Given the description of an element on the screen output the (x, y) to click on. 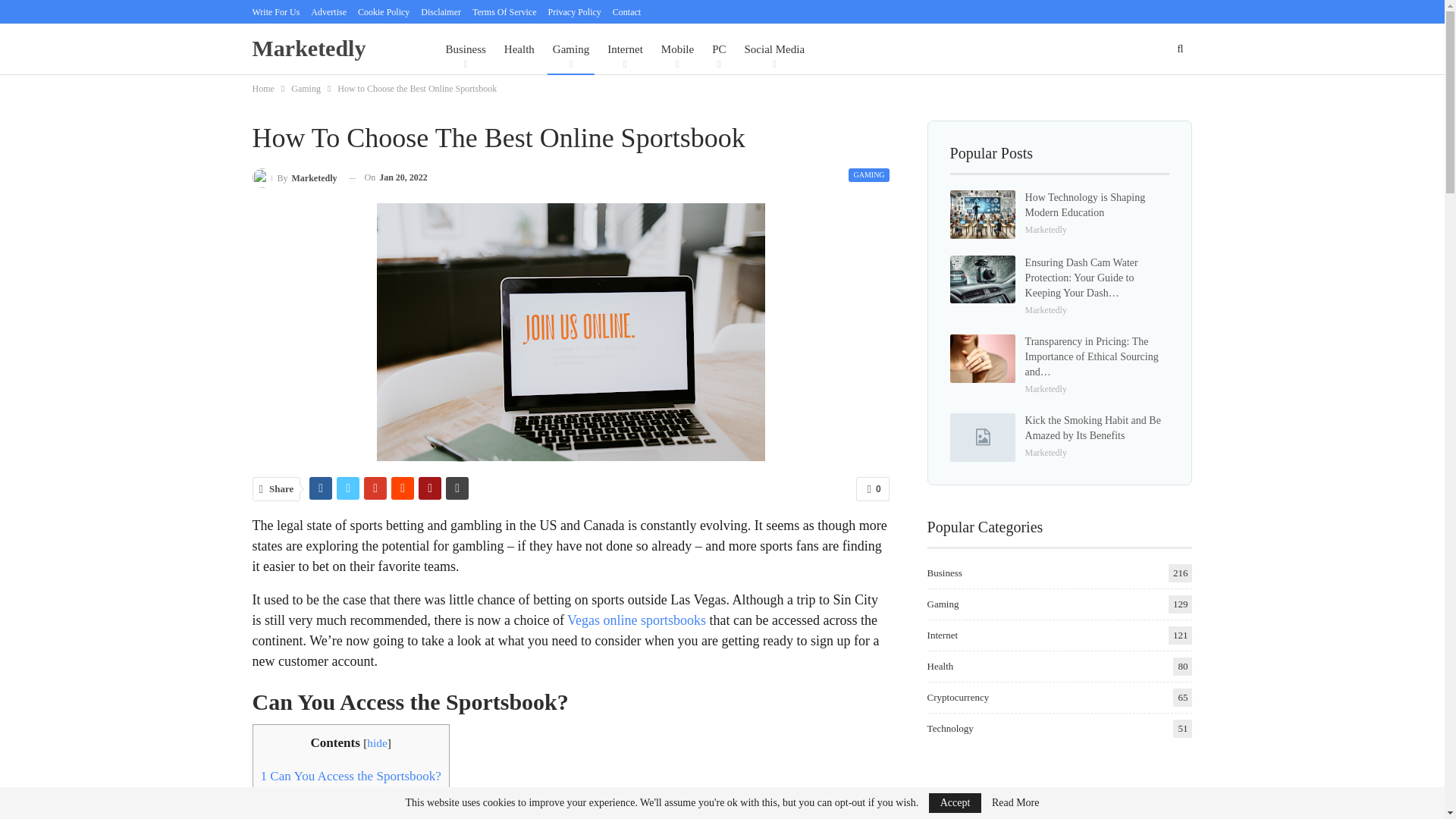
Marketedly (311, 47)
Advertise (328, 11)
Business (464, 49)
Gaming (570, 49)
Write For Us (275, 11)
Cookie Policy (383, 11)
Privacy Policy (573, 11)
Terms Of Service (503, 11)
Browse Author Articles (293, 177)
Social Media (773, 49)
Internet (624, 49)
Disclaimer (440, 11)
Contact (626, 11)
